Given the description of an element on the screen output the (x, y) to click on. 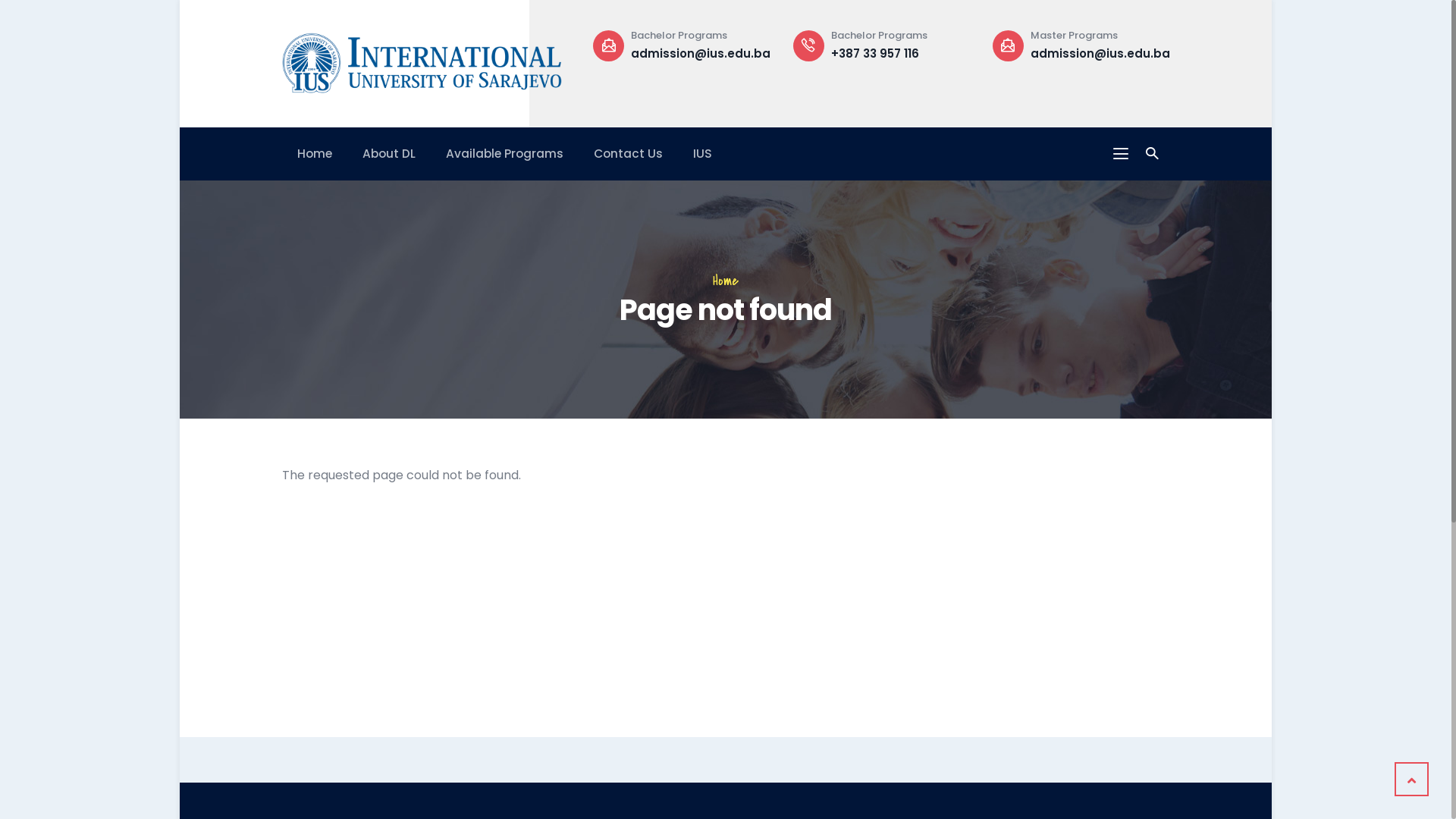
+387 33 957 116 Element type: text (1074, 53)
Skip to main content Element type: text (179, 0)
Home Element type: text (314, 153)
Contact Us Element type: text (627, 153)
admission@ius.edu.ba Element type: text (900, 53)
IUS Element type: text (702, 153)
Available Programs Element type: text (504, 153)
Home Element type: hover (421, 59)
Home Element type: text (725, 280)
About DL Element type: text (388, 153)
